Given the description of an element on the screen output the (x, y) to click on. 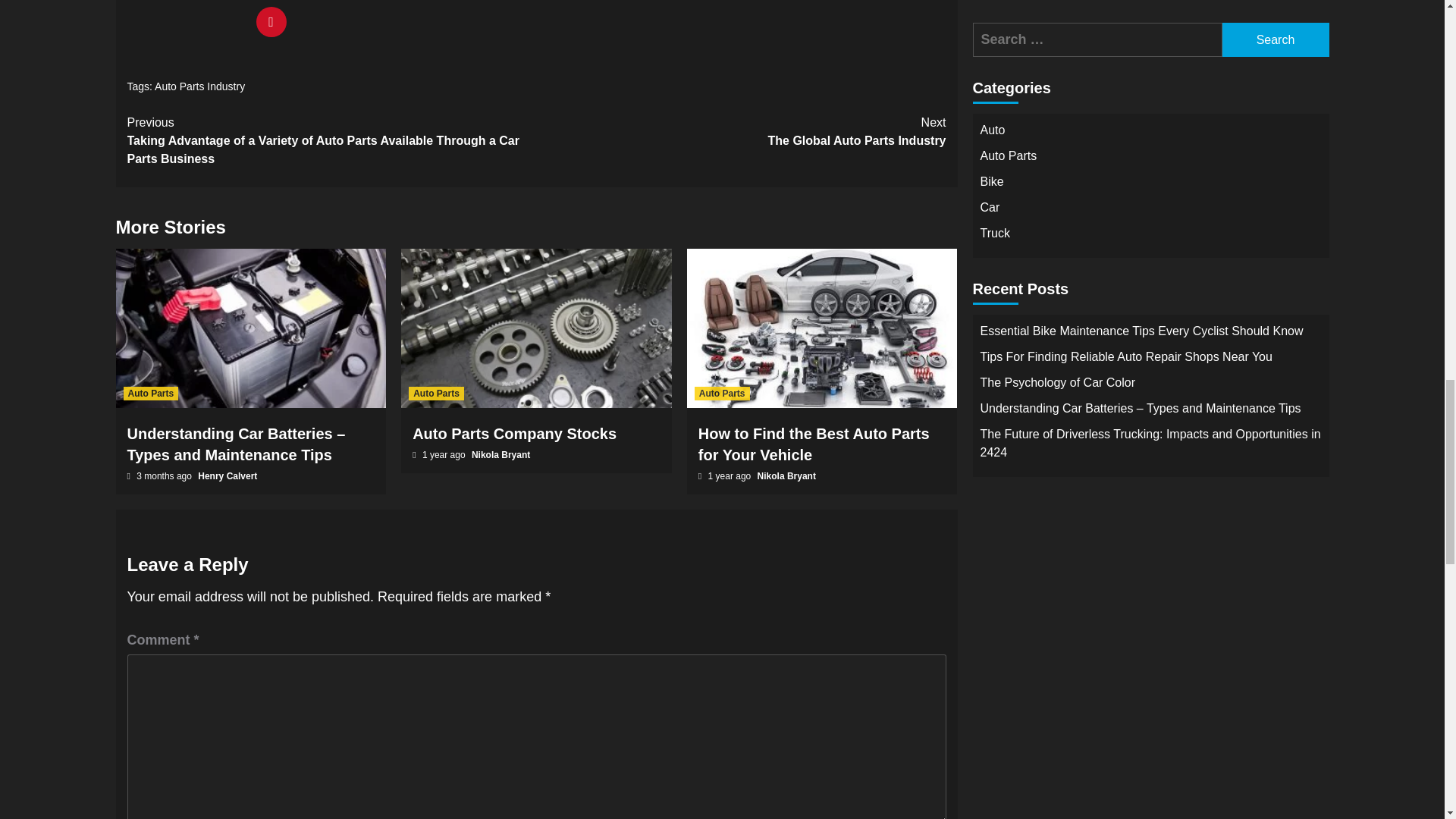
Auto Parts (436, 393)
Nikola Bryant (500, 454)
Henry Calvert (227, 475)
Auto Parts Company Stocks (513, 433)
How to Find the Best Auto Parts for Your Vehicle (814, 444)
Auto Parts (741, 131)
Auto Parts (149, 393)
Auto Parts Industry (721, 393)
Nikola Bryant (199, 86)
